Given the description of an element on the screen output the (x, y) to click on. 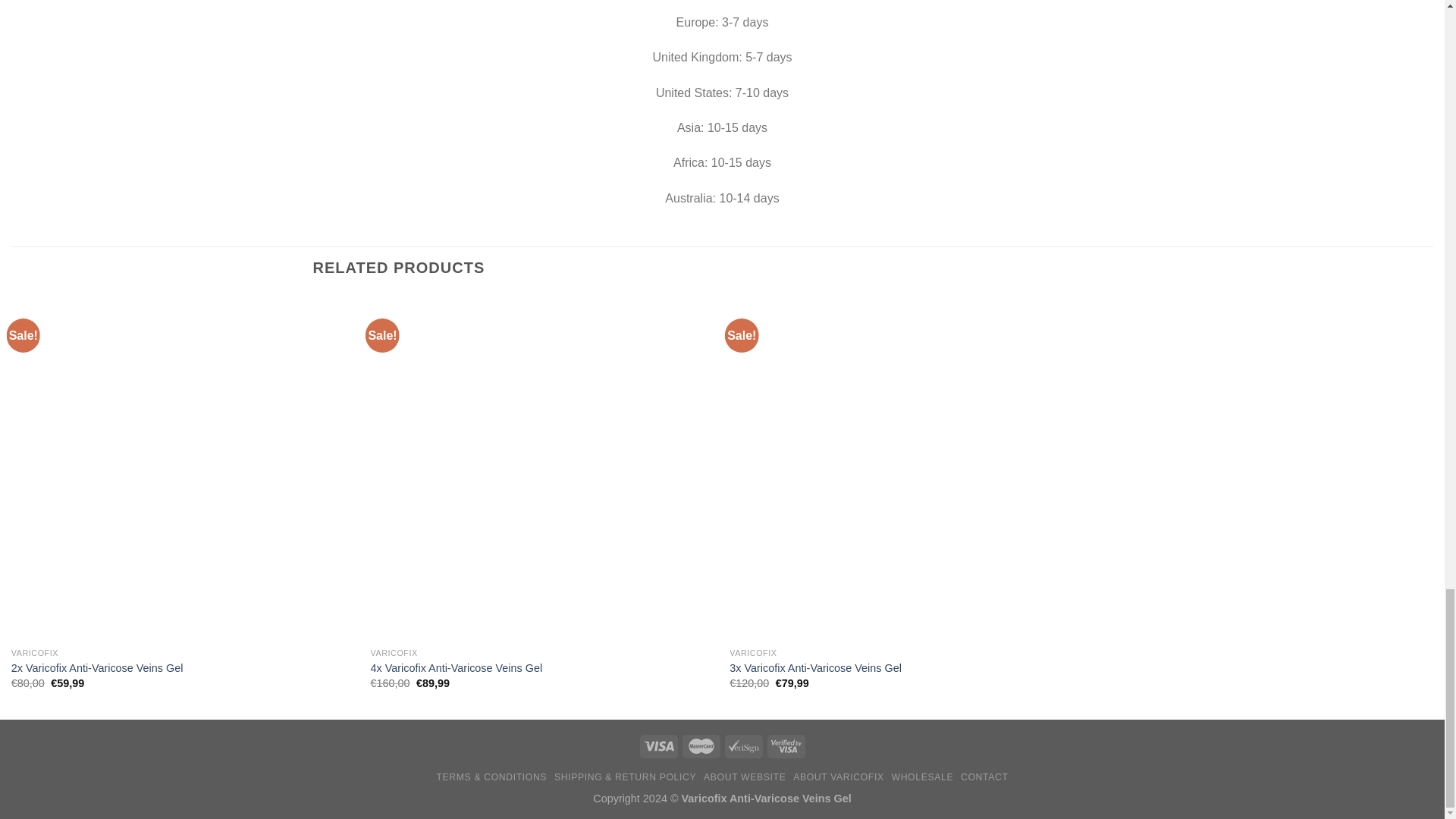
3x Varicofix Anti-Varicose Veins Gel (815, 667)
CONTACT (984, 777)
WHOLESALE (922, 777)
2x Varicofix Anti-Varicose Veins Gel (97, 667)
4x Varicofix Anti-Varicose Veins Gel (457, 667)
ABOUT WEBSITE (744, 777)
Submit (73, 657)
ABOUT VARICOFIX (838, 777)
